Given the description of an element on the screen output the (x, y) to click on. 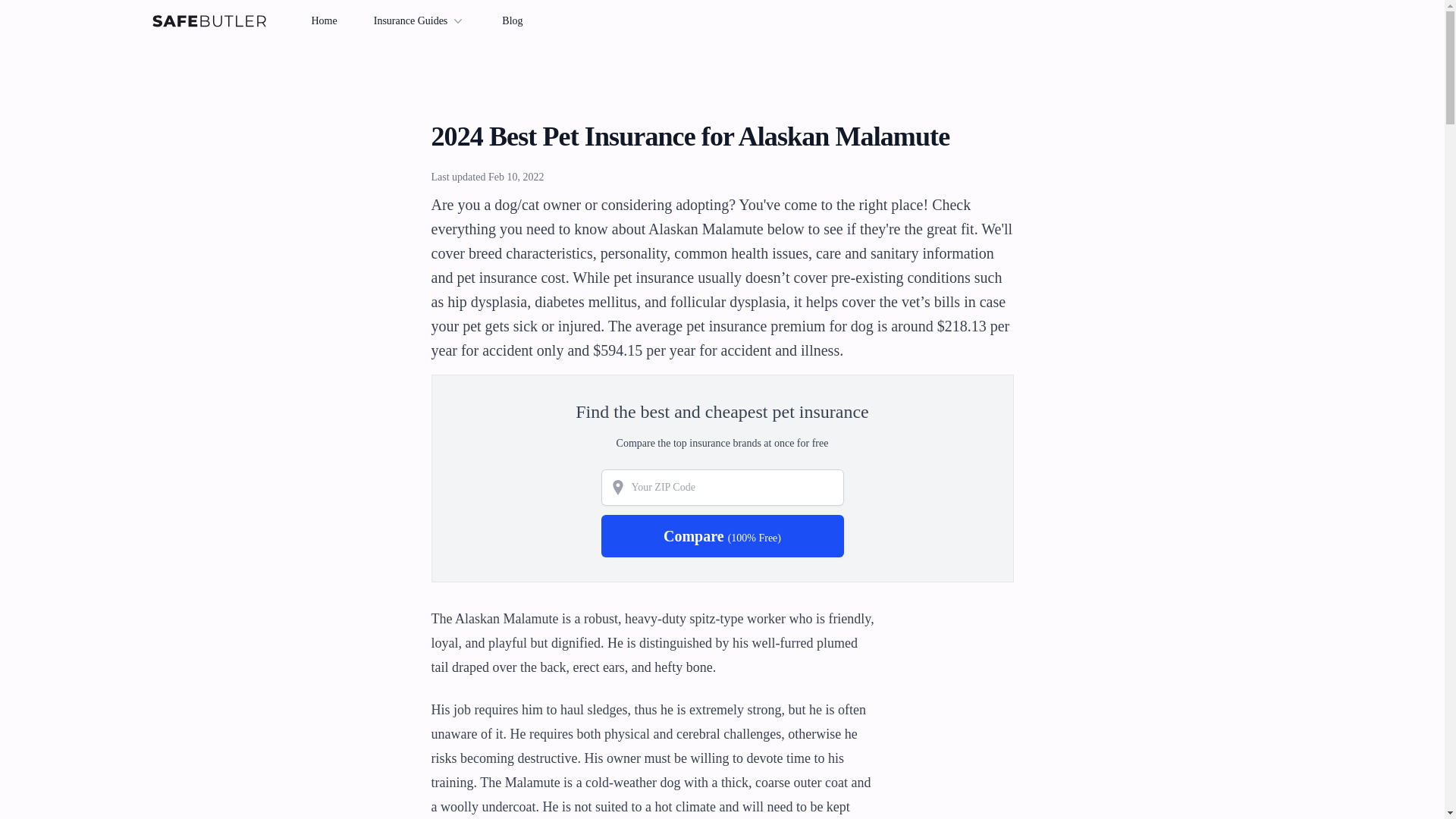
Blog (512, 20)
Home (207, 21)
Insurance Guides (419, 21)
Home (323, 20)
